Given the description of an element on the screen output the (x, y) to click on. 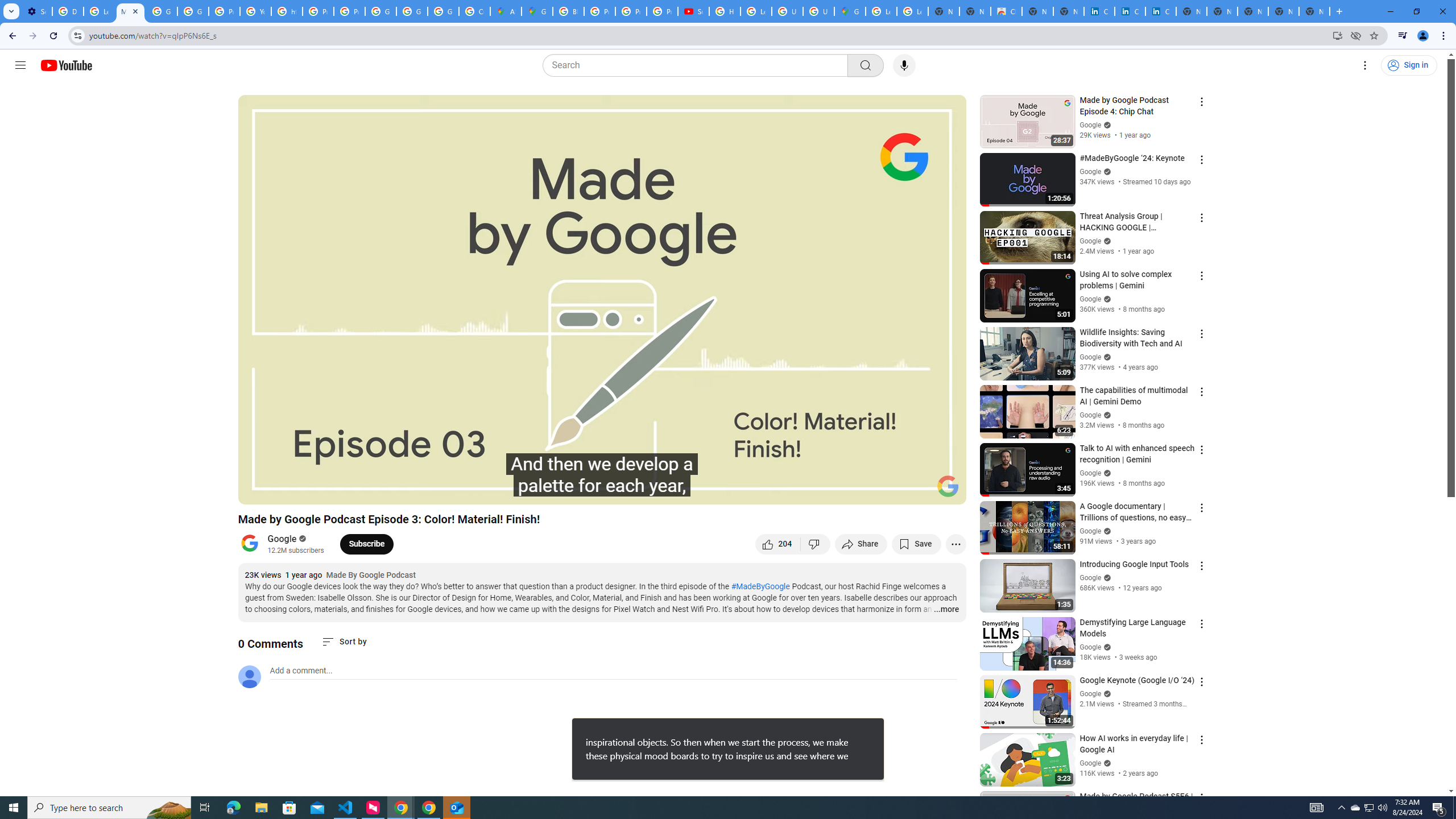
Share (861, 543)
Google Account Help (192, 11)
Settings (1365, 65)
Subscribe to Google. (366, 543)
Google Account Help (161, 11)
